Given the description of an element on the screen output the (x, y) to click on. 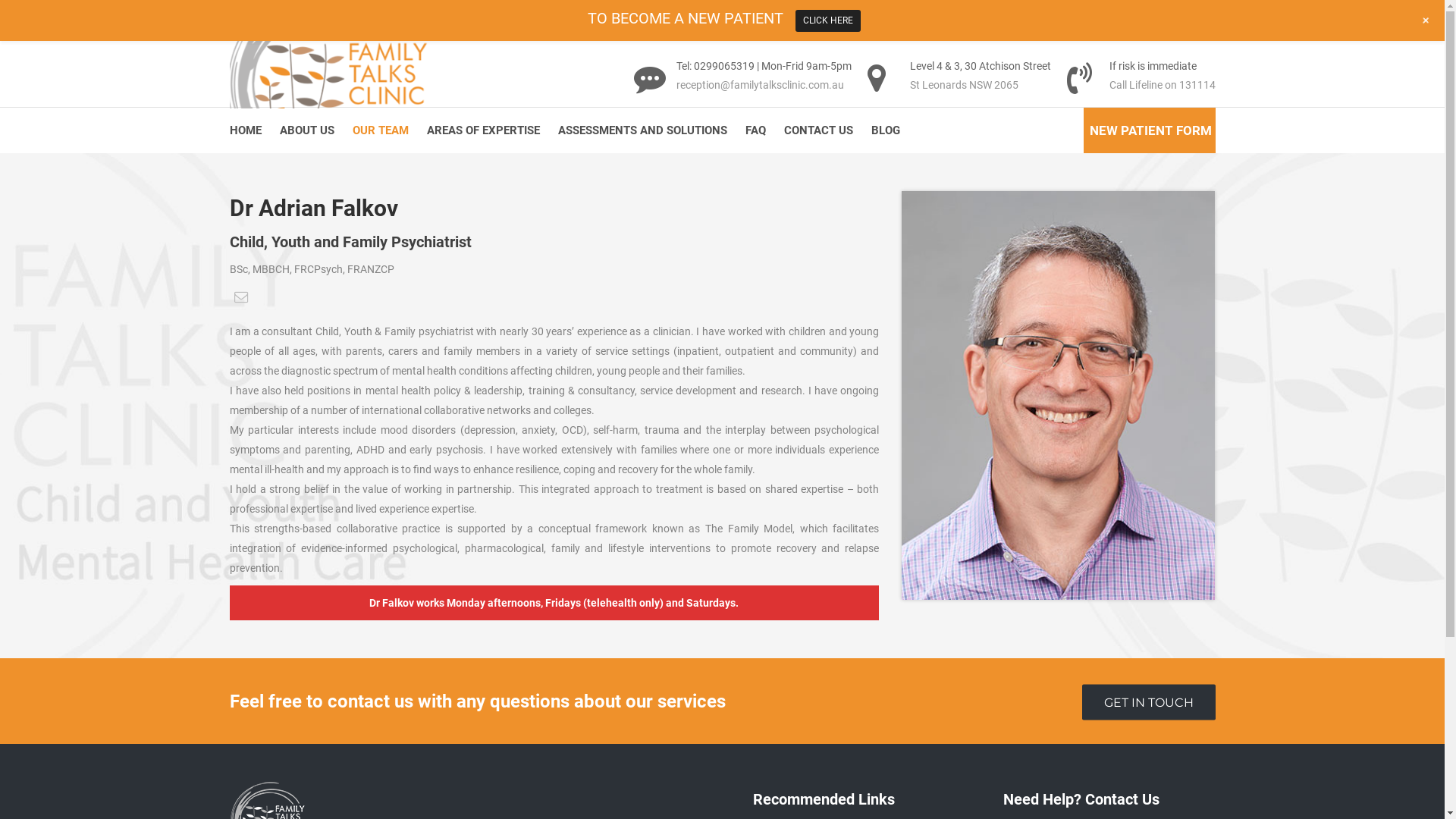
NEW PATIENT FORM Element type: text (1149, 131)
AREAS OF EXPERTISE Element type: text (482, 130)
ASSESSMENTS AND SOLUTIONS Element type: text (642, 130)
HOME Element type: text (249, 130)
OUR TEAM Element type: text (379, 130)
If risk is immediate
Call Lifeline on 131114 Element type: text (1140, 84)
BLOG Element type: text (884, 130)
DRAF Element type: hover (1057, 395)
CONTACT US Element type: text (818, 130)
CLICK HERE Element type: text (826, 20)
Level 4 & 3, 30 Atchison Street
St Leonards NSW 2065 Element type: text (965, 84)
+ Element type: text (1425, 20)
GET IN TOUCH Element type: text (1147, 701)
FAQ Element type: text (754, 130)
ABOUT US Element type: text (305, 130)
